Given the description of an element on the screen output the (x, y) to click on. 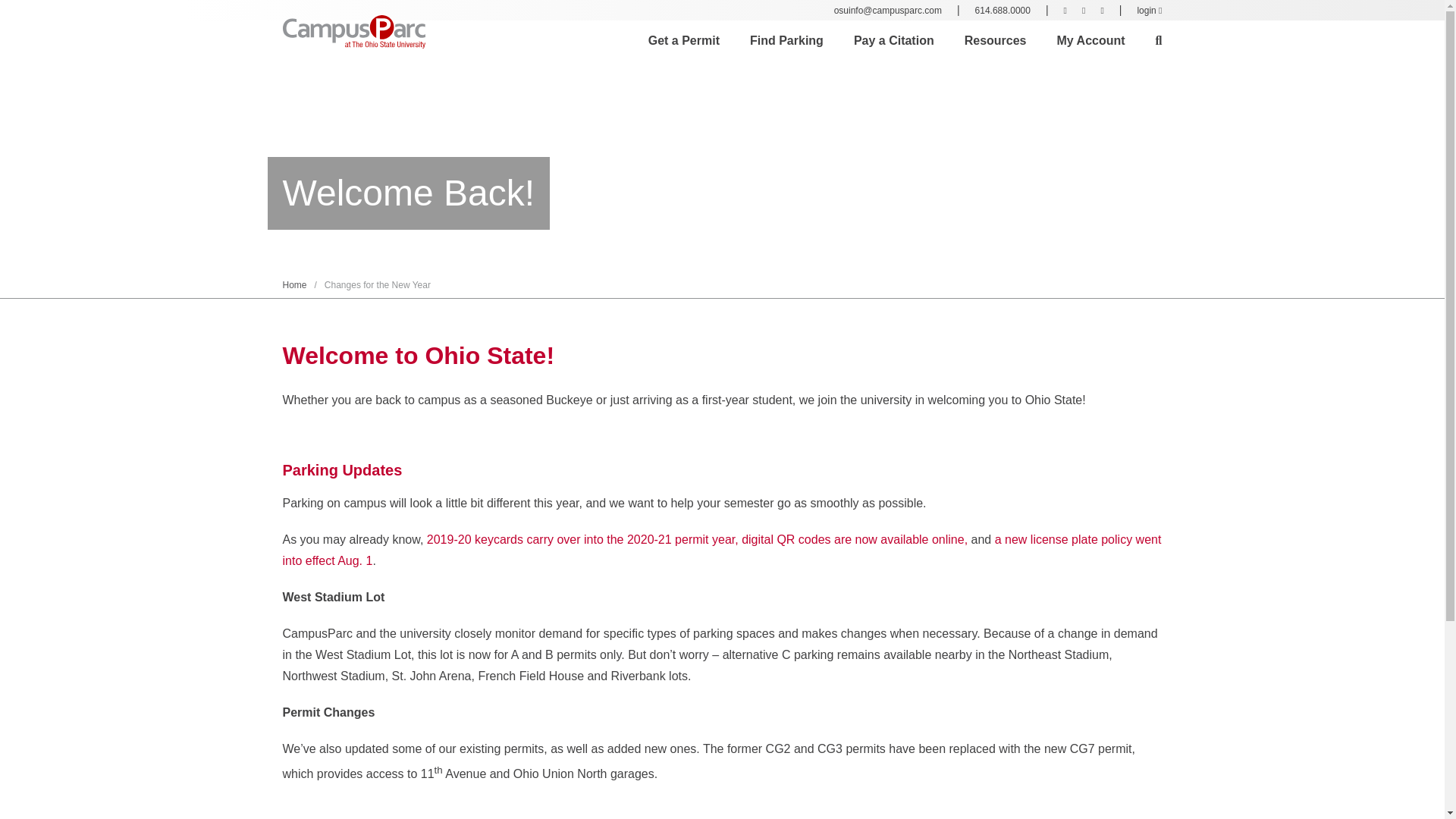
Resources (994, 41)
614.688.0000 (1002, 9)
Find Parking (786, 41)
Pay a Citation (893, 41)
login (1149, 9)
Get a Permit (683, 41)
